Given the description of an element on the screen output the (x, y) to click on. 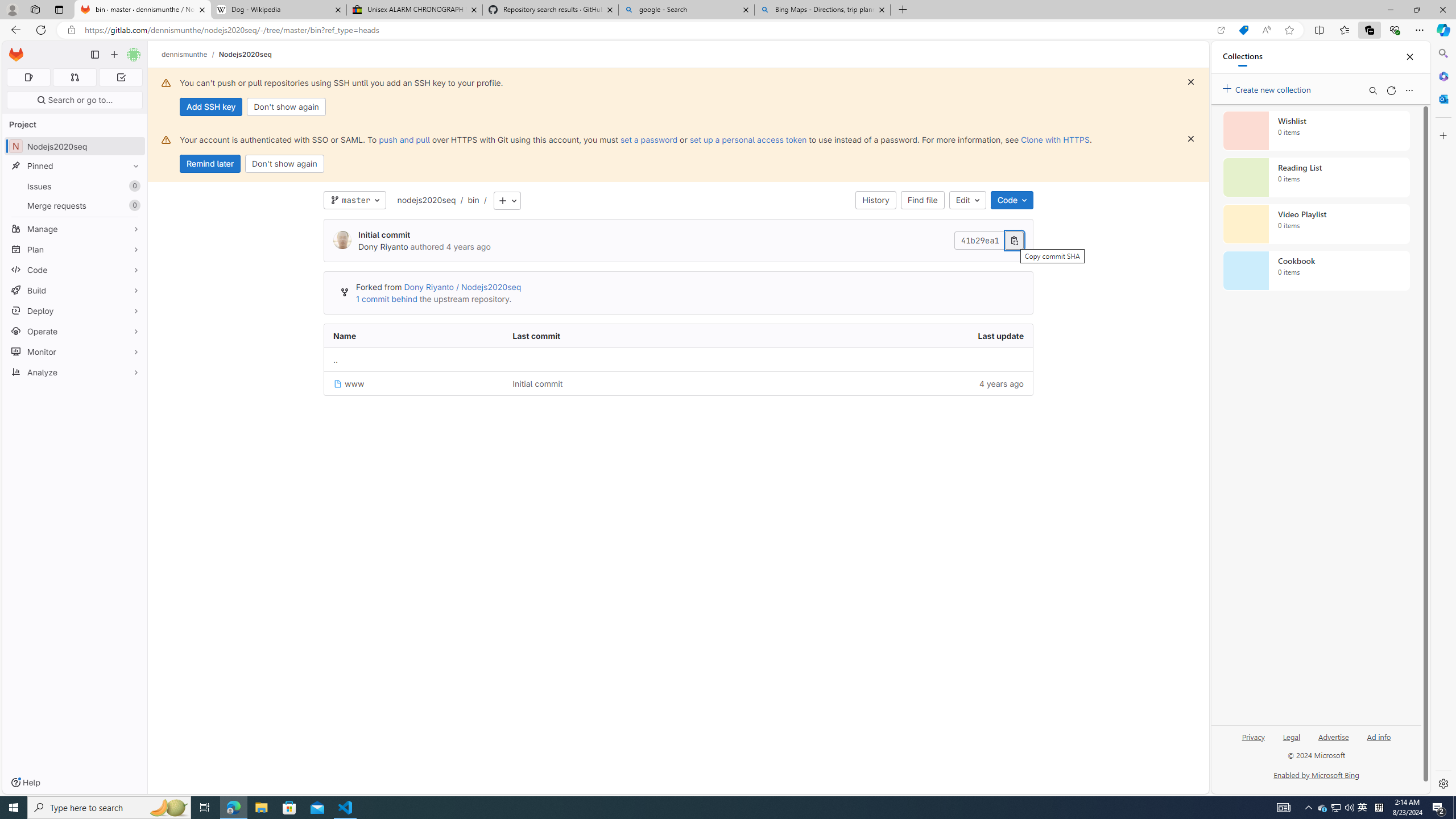
www (413, 383)
Reading List collection, 0 items (1316, 177)
Operate (74, 330)
Remind later (210, 163)
google - Search (685, 9)
Pinned (74, 165)
4 years ago (892, 383)
Skip to main content (13, 49)
/bin (467, 200)
To-Do list 0 (120, 76)
Unpin Merge requests (132, 205)
Wishlist collection, 0 items (1316, 130)
Build (74, 289)
